Given the description of an element on the screen output the (x, y) to click on. 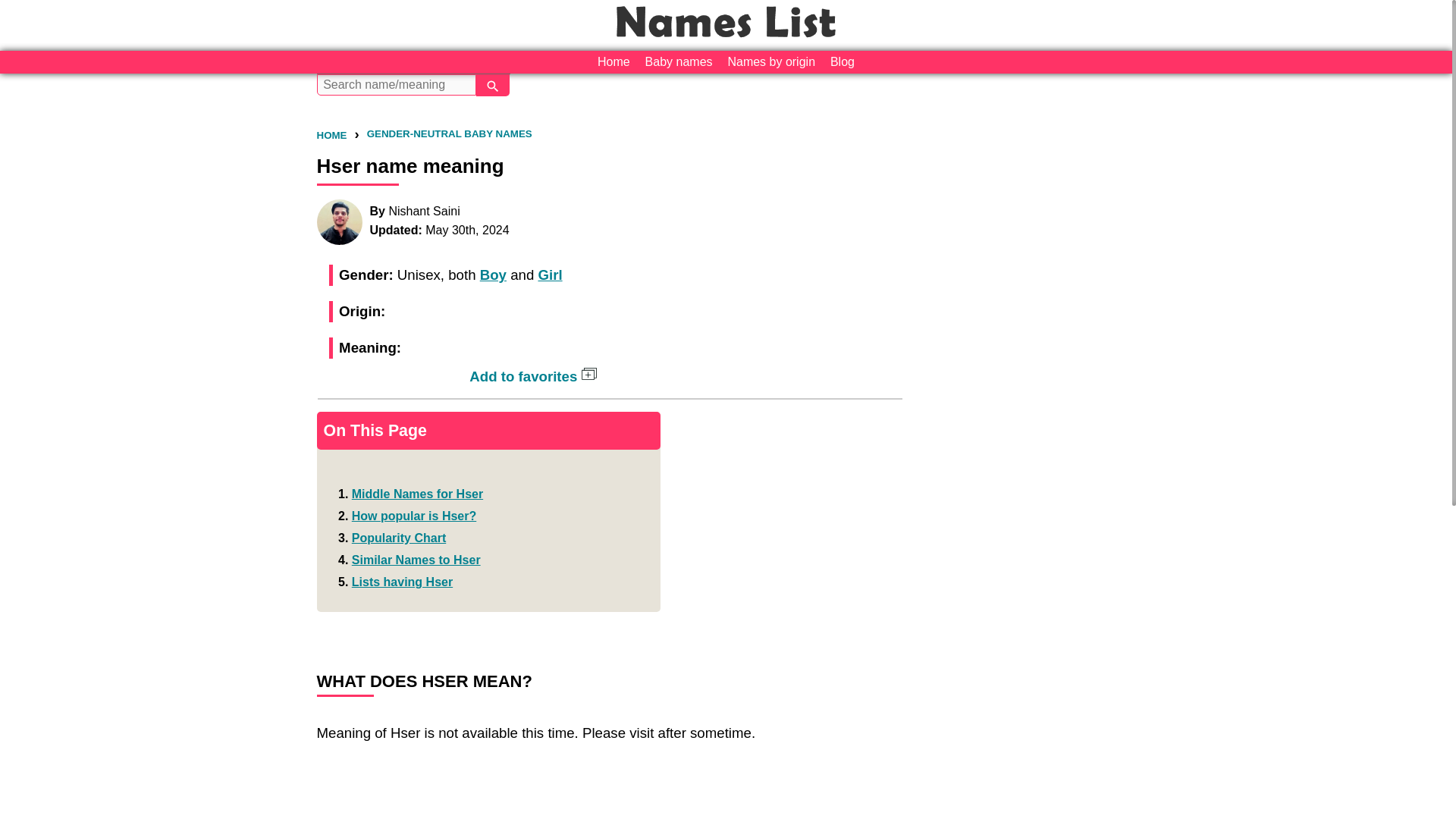
Boy (493, 274)
Popularity Chart (398, 537)
Girl (549, 274)
Home (613, 61)
HOME (332, 134)
Baby names (679, 61)
Similar Names to Hser (416, 559)
Blog (842, 61)
How popular is Hser? (414, 515)
Lists having Hser (402, 581)
Middle Names for Hser (417, 493)
GENDER-NEUTRAL BABY NAMES (449, 133)
Names by origin (770, 61)
